Given the description of an element on the screen output the (x, y) to click on. 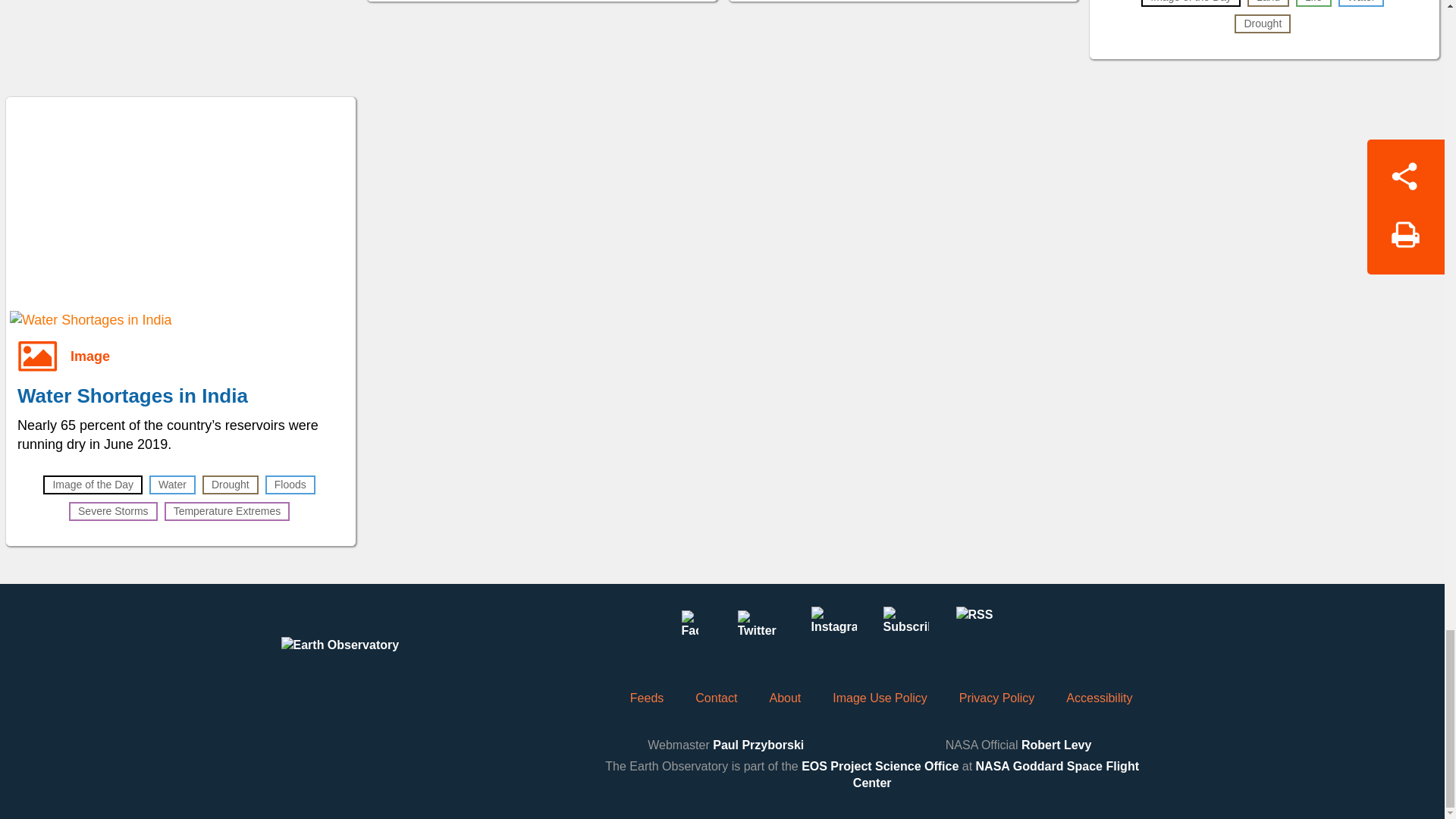
Twitter (761, 629)
Facebook (689, 629)
Instagram (833, 629)
Subscribe (905, 629)
RSS (977, 629)
Earth Observatory (369, 659)
